Given the description of an element on the screen output the (x, y) to click on. 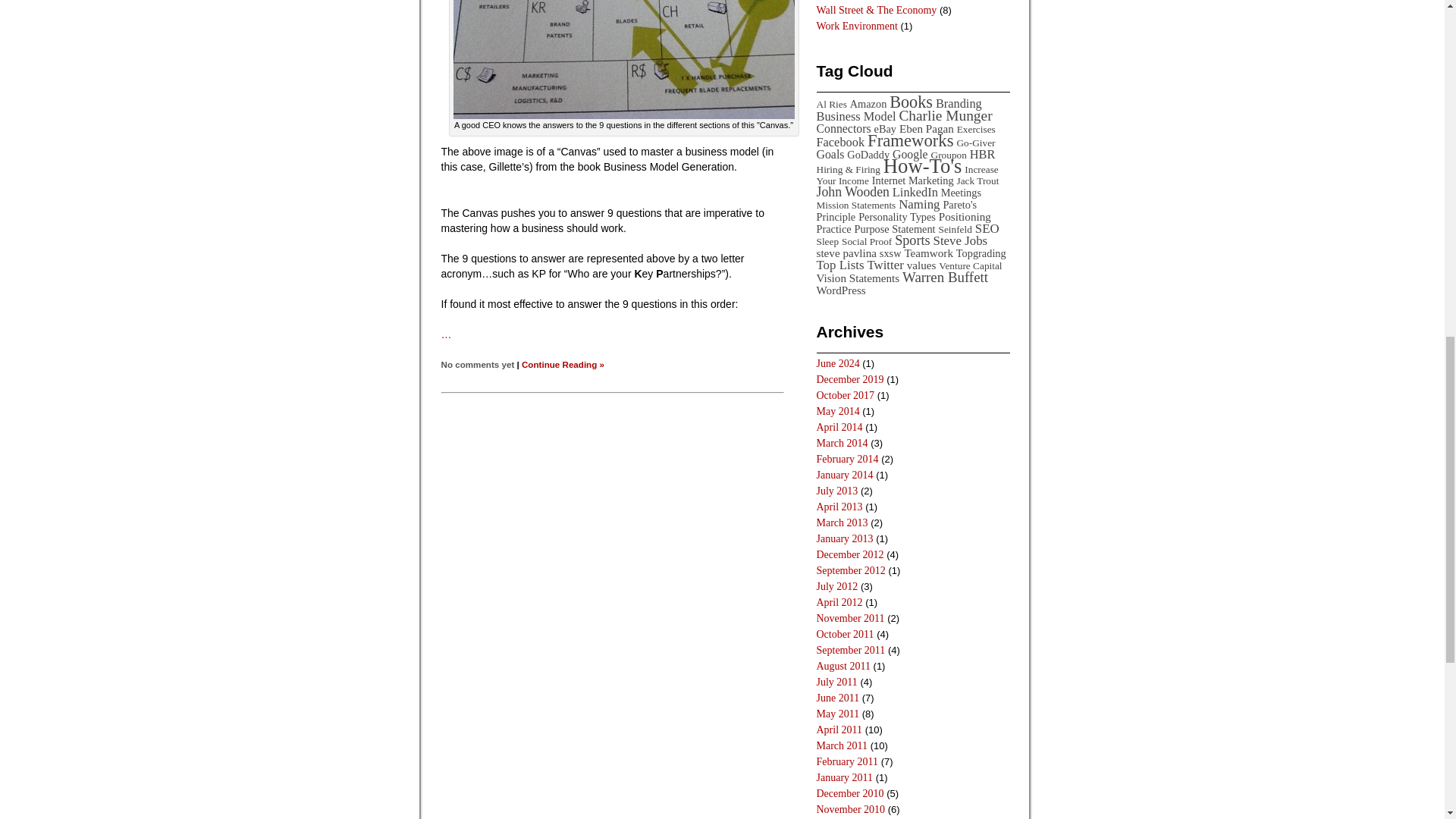
Read the rest of The 5 Core Skills Every CEO Should Have (562, 364)
No comments yet (478, 364)
Business Model Canvas of Gillette (623, 59)
